Given the description of an element on the screen output the (x, y) to click on. 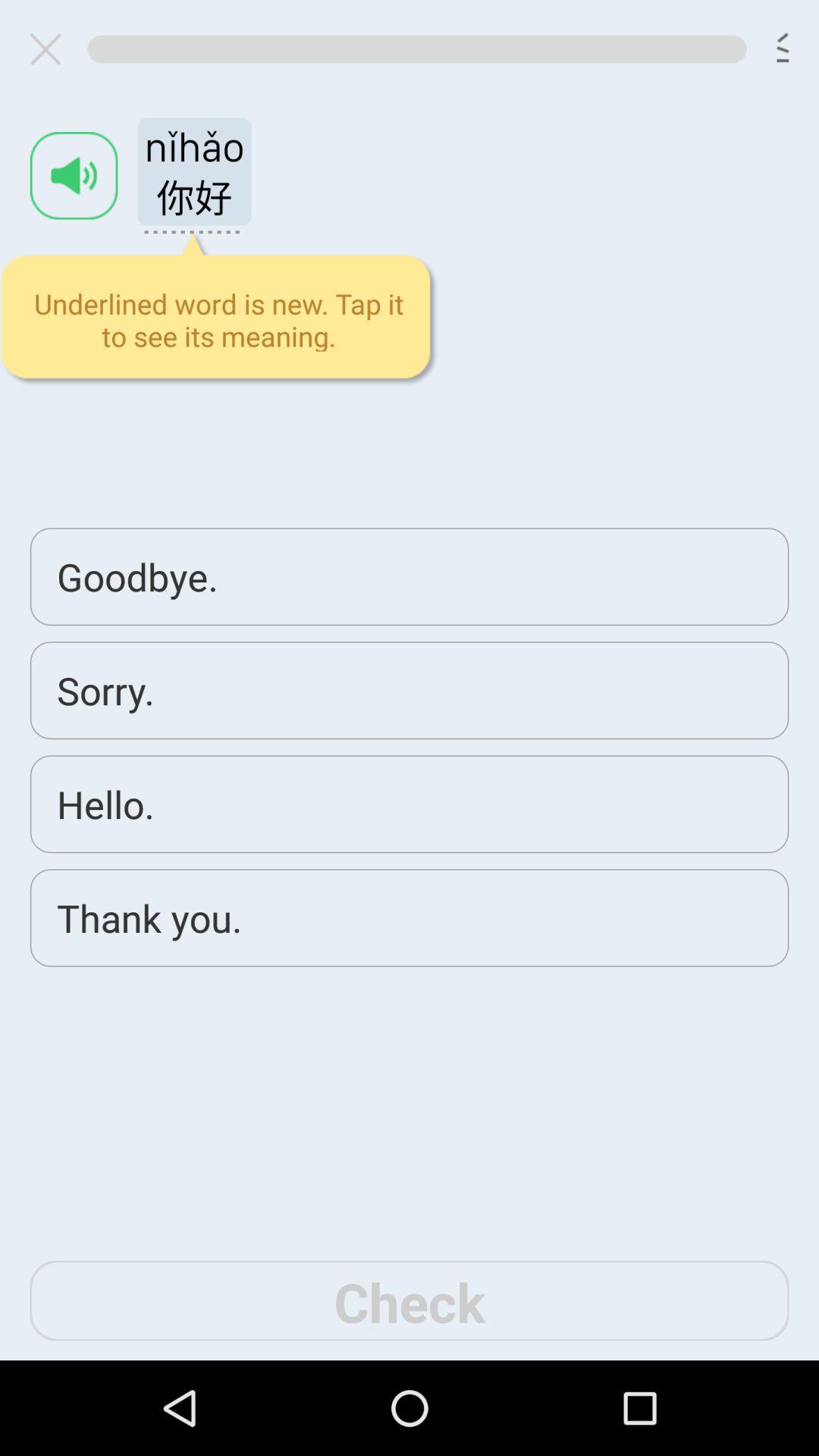
front end (409, 679)
